Given the description of an element on the screen output the (x, y) to click on. 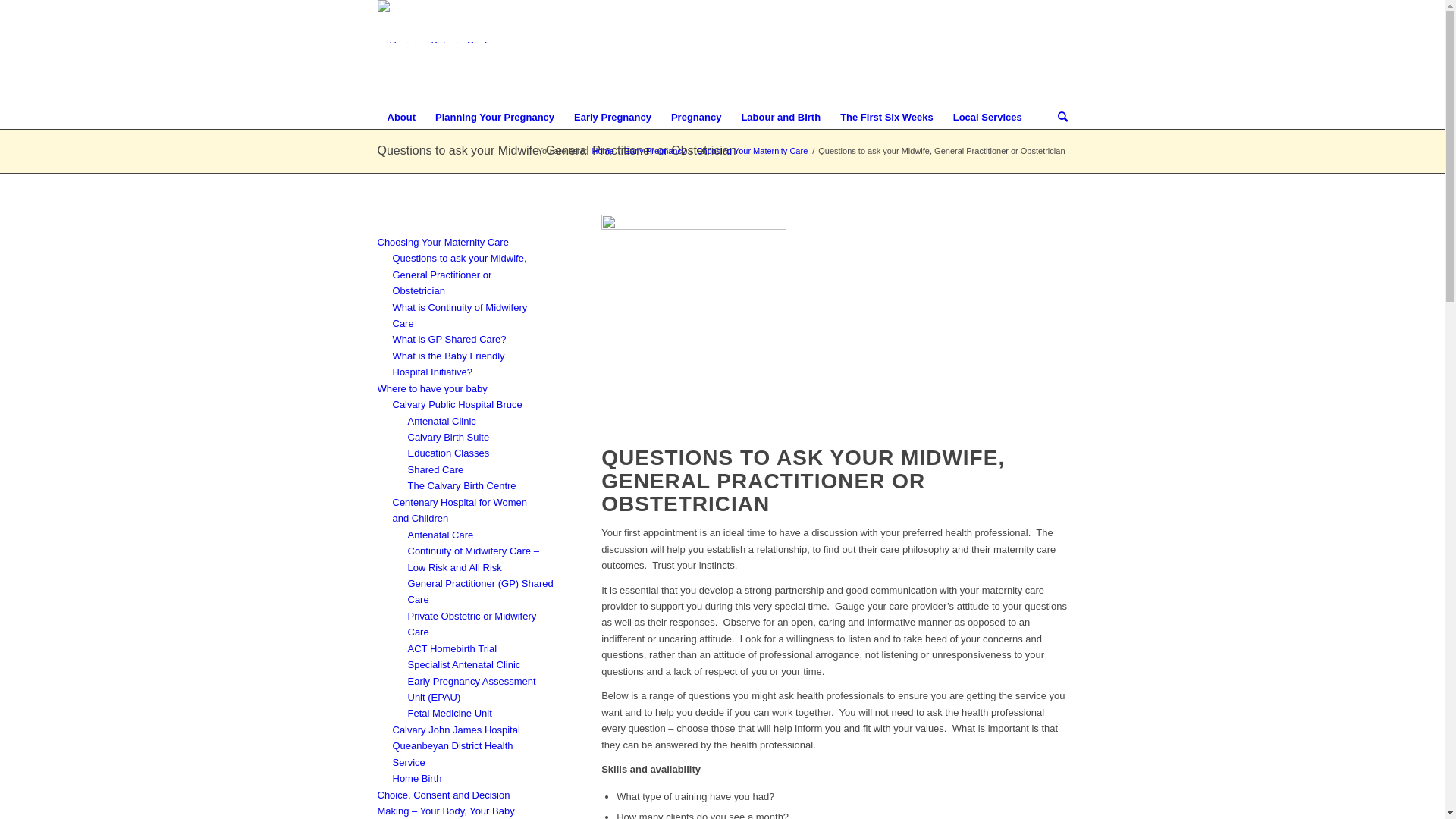
Choosing Your Maternity Care Element type: text (752, 150)
ACT Homebirth Trial Element type: text (452, 647)
Early Pregnancy Element type: text (612, 117)
What is GP Shared Care? Element type: text (449, 338)
Shared Care Element type: text (435, 468)
Antenatal Clinic Element type: text (441, 420)
Specialist Antenatal Clinic Element type: text (463, 663)
Home Birth Element type: text (417, 777)
Education Classes Element type: text (448, 452)
General Practitioner (GP) Shared Care Element type: text (480, 590)
The First Six Weeks Element type: text (886, 117)
Centenary Hospital for Women and Children Element type: text (459, 509)
Home Element type: text (602, 150)
What is the Baby Friendly Hospital Initiative? Element type: text (448, 363)
Calvary Birth Suite Element type: text (448, 436)
What is Continuity of Midwifery Care Element type: text (459, 314)
Planning Your Pregnancy Element type: text (494, 117)
Choosing Your Maternity Care Element type: text (442, 241)
About Element type: text (401, 117)
Local Services Element type: text (987, 117)
Queanbeyan District Health Service Element type: text (452, 752)
The Calvary Birth Centre Element type: text (461, 484)
Early Pregnancy Element type: text (655, 150)
Calvary Public Hospital Bruce Element type: text (457, 403)
Labour and Birth Element type: text (780, 117)
Pregnancy Element type: text (696, 117)
Antenatal Care Element type: text (440, 534)
Fetal Medicine Unit Element type: text (449, 712)
Early Pregnancy Assessment Unit (EPAU) Element type: text (471, 688)
Private Obstetric or Midwifery Care Element type: text (471, 623)
Where to have your baby Element type: text (432, 387)
Calvary John James Hospital Element type: text (456, 728)
